Given the description of an element on the screen output the (x, y) to click on. 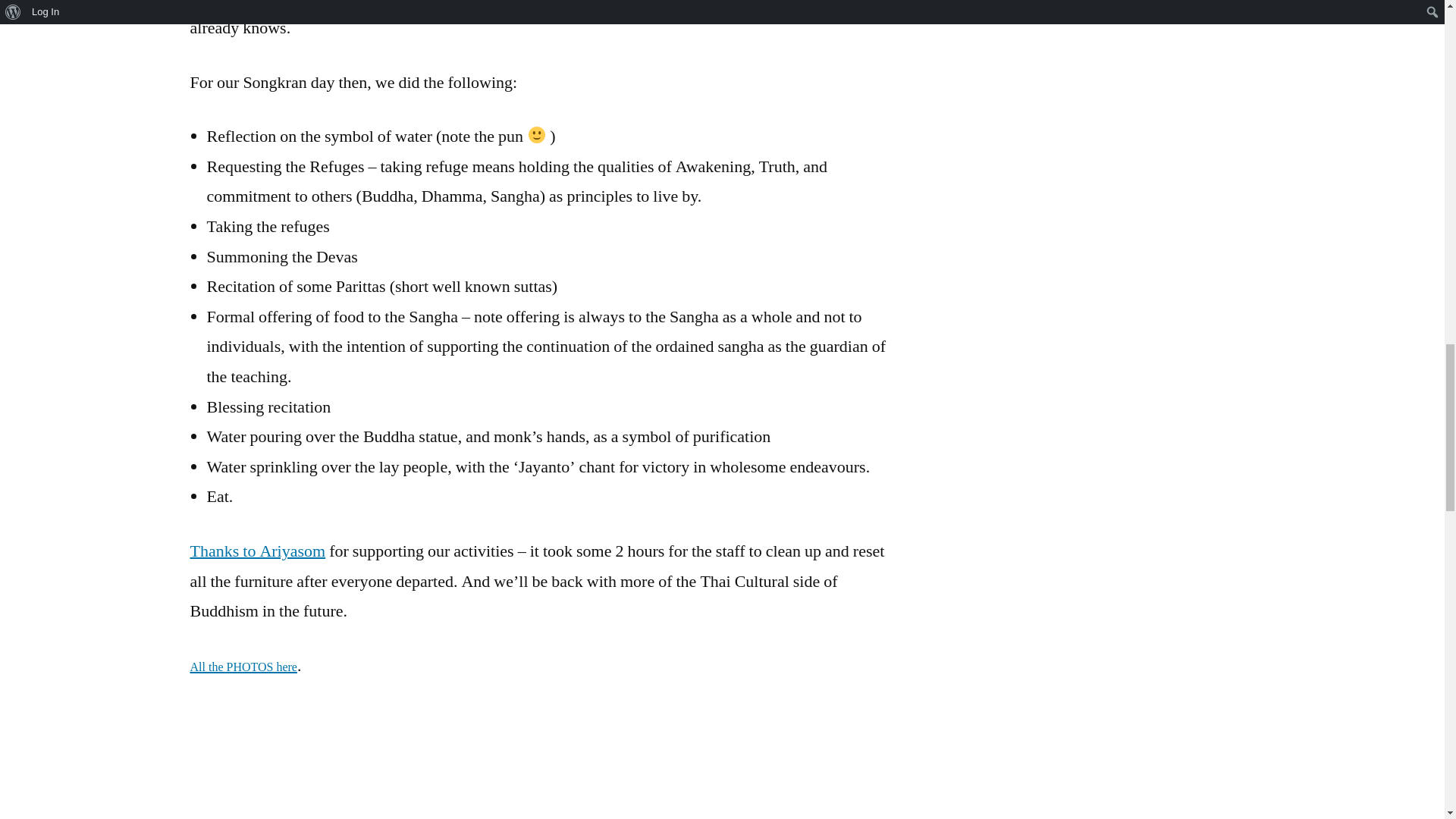
All the PHOTOS here (243, 665)
Thanks to Ariyasom (256, 550)
